Given the description of an element on the screen output the (x, y) to click on. 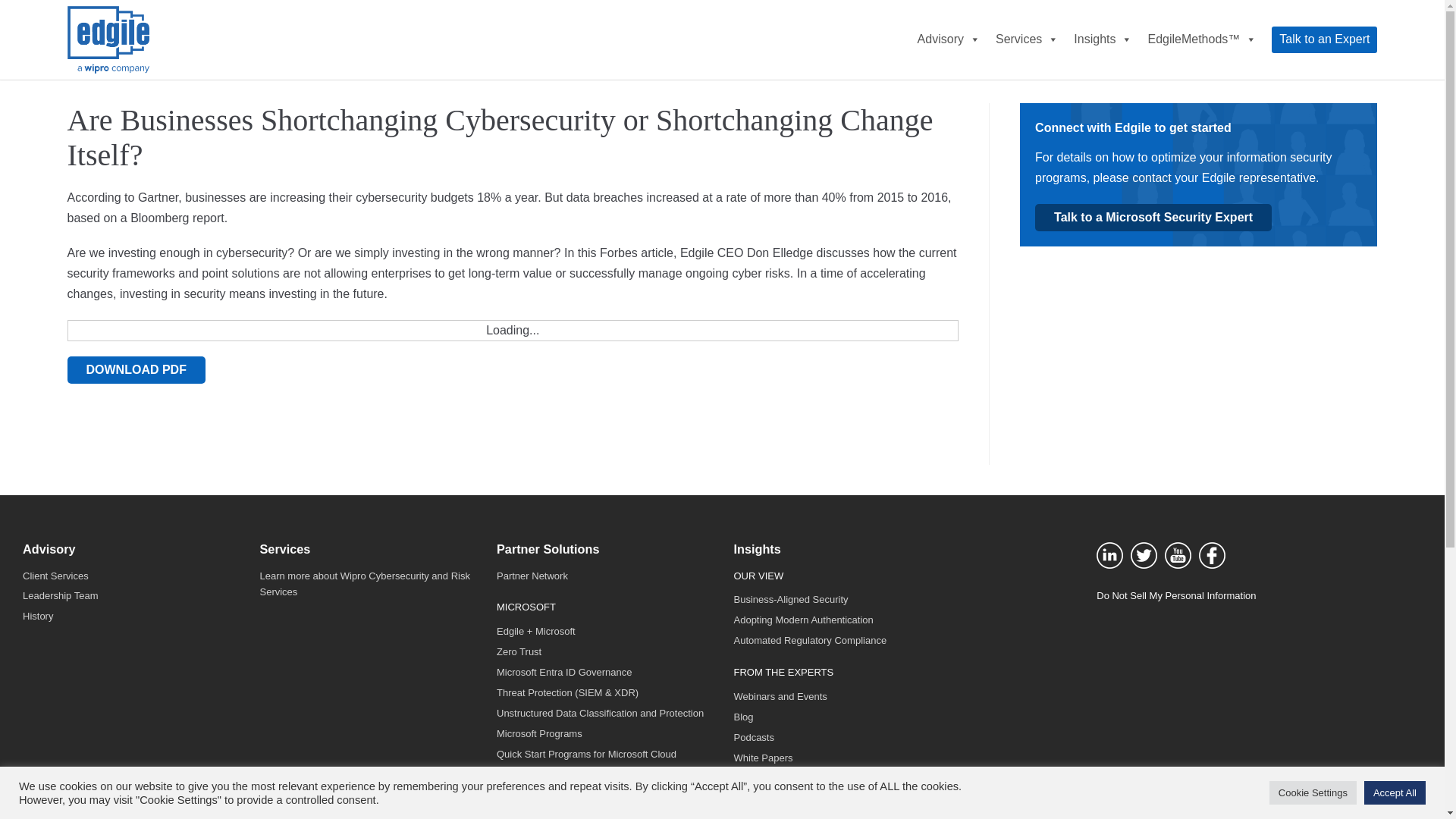
Edgile (107, 39)
Advisory (949, 39)
Services (1026, 39)
Skip to content (15, 7)
